Given the description of an element on the screen output the (x, y) to click on. 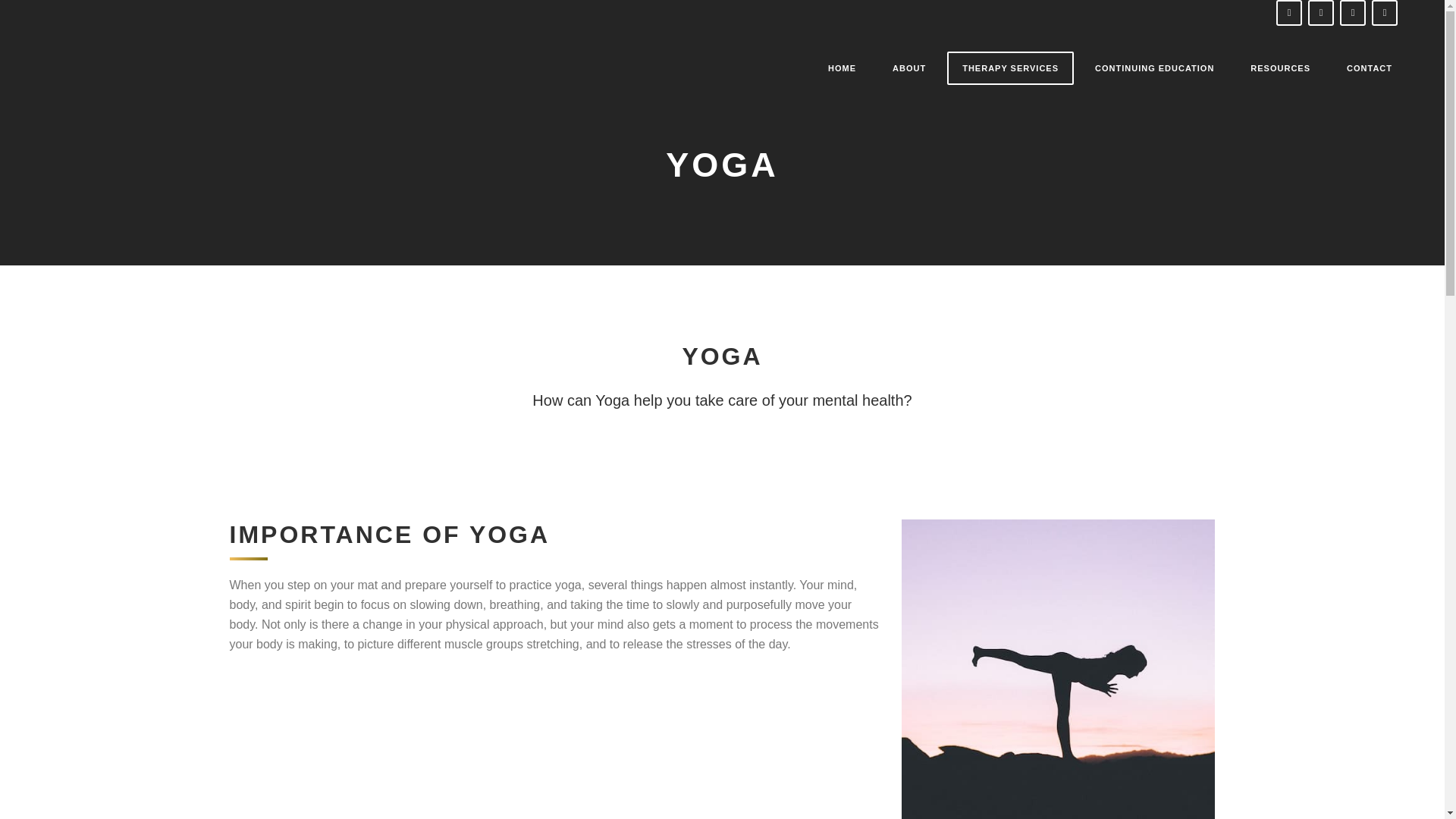
CONTINUING EDUCATION (1154, 68)
CONTACT (1368, 68)
ABOUT (909, 68)
THERAPY SERVICES (1010, 68)
HOME (842, 68)
RESOURCES (1279, 68)
